Given the description of an element on the screen output the (x, y) to click on. 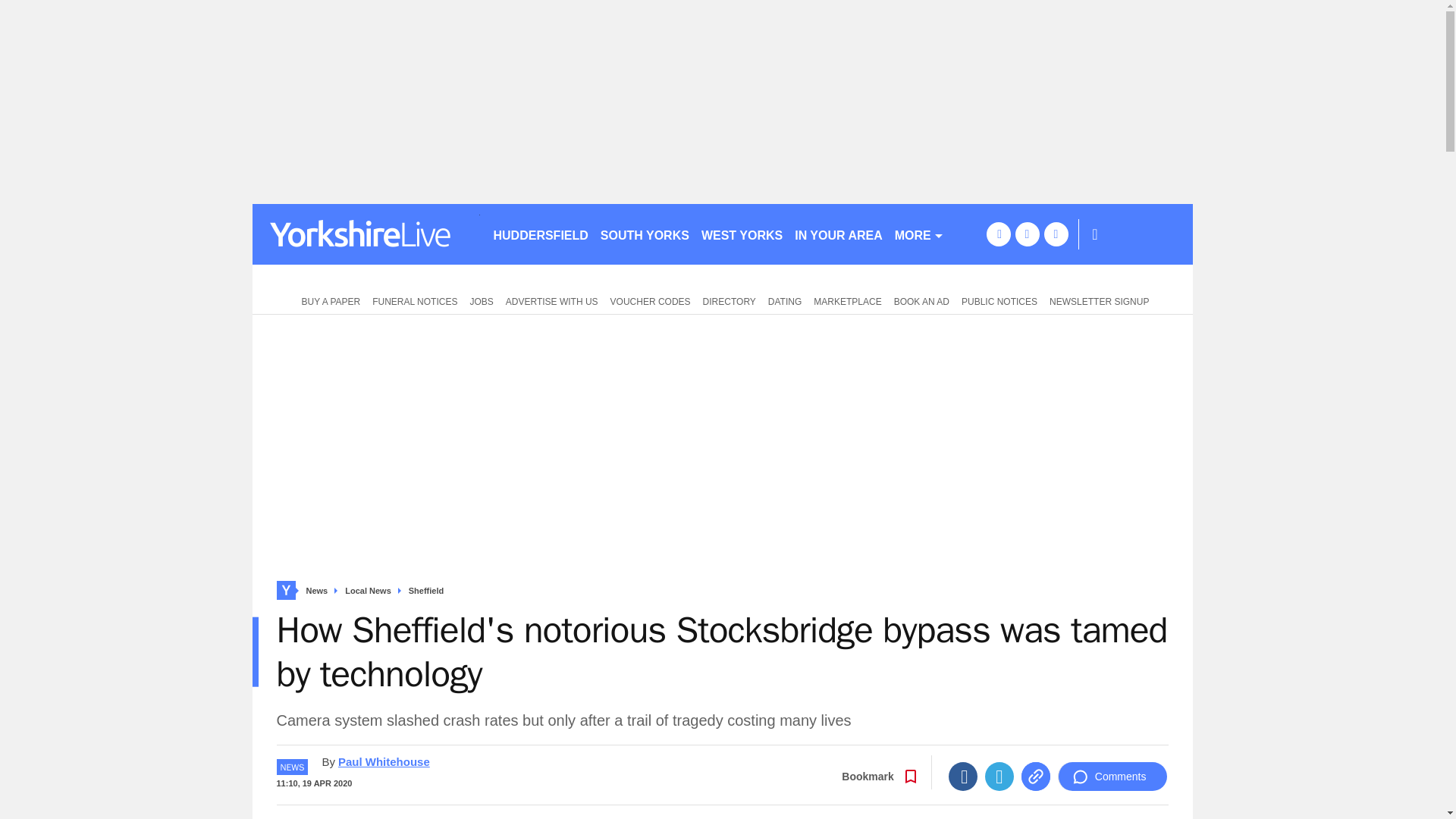
HUDDERSFIELD (540, 233)
huddersfieldexaminer (365, 233)
Comments (1112, 776)
instagram (1055, 233)
IN YOUR AREA (838, 233)
MORE (919, 233)
SOUTH YORKS (644, 233)
facebook (997, 233)
WEST YORKS (742, 233)
Twitter (999, 776)
